Given the description of an element on the screen output the (x, y) to click on. 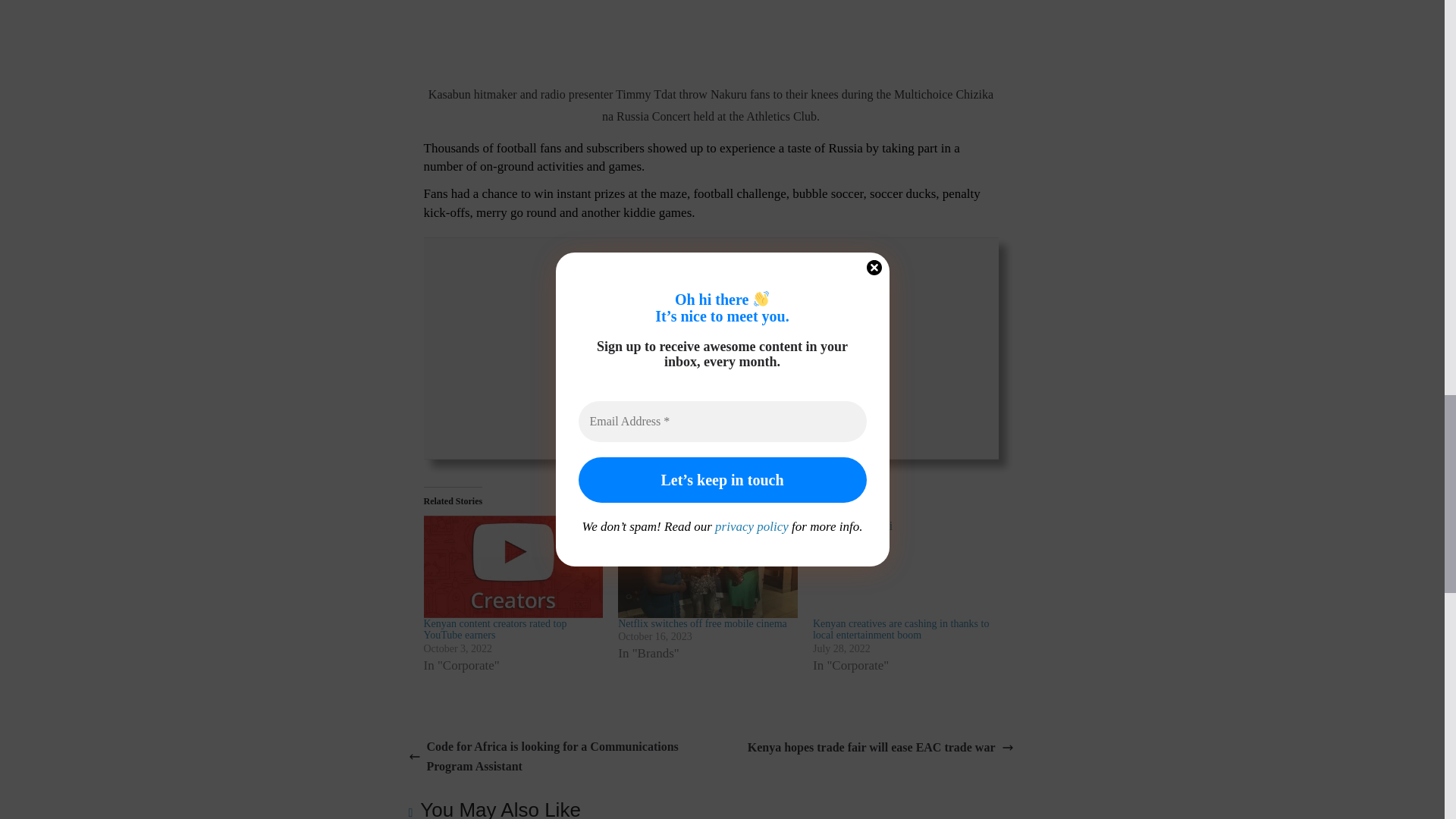
Kenyan content creators rated top YouTube earners (512, 566)
Website (715, 419)
Netflix switches off free mobile cinema (702, 623)
Kenyan content creators rated top YouTube earners (494, 629)
Newsroom (711, 392)
Netflix switches off free mobile cinema (707, 566)
